Given the description of an element on the screen output the (x, y) to click on. 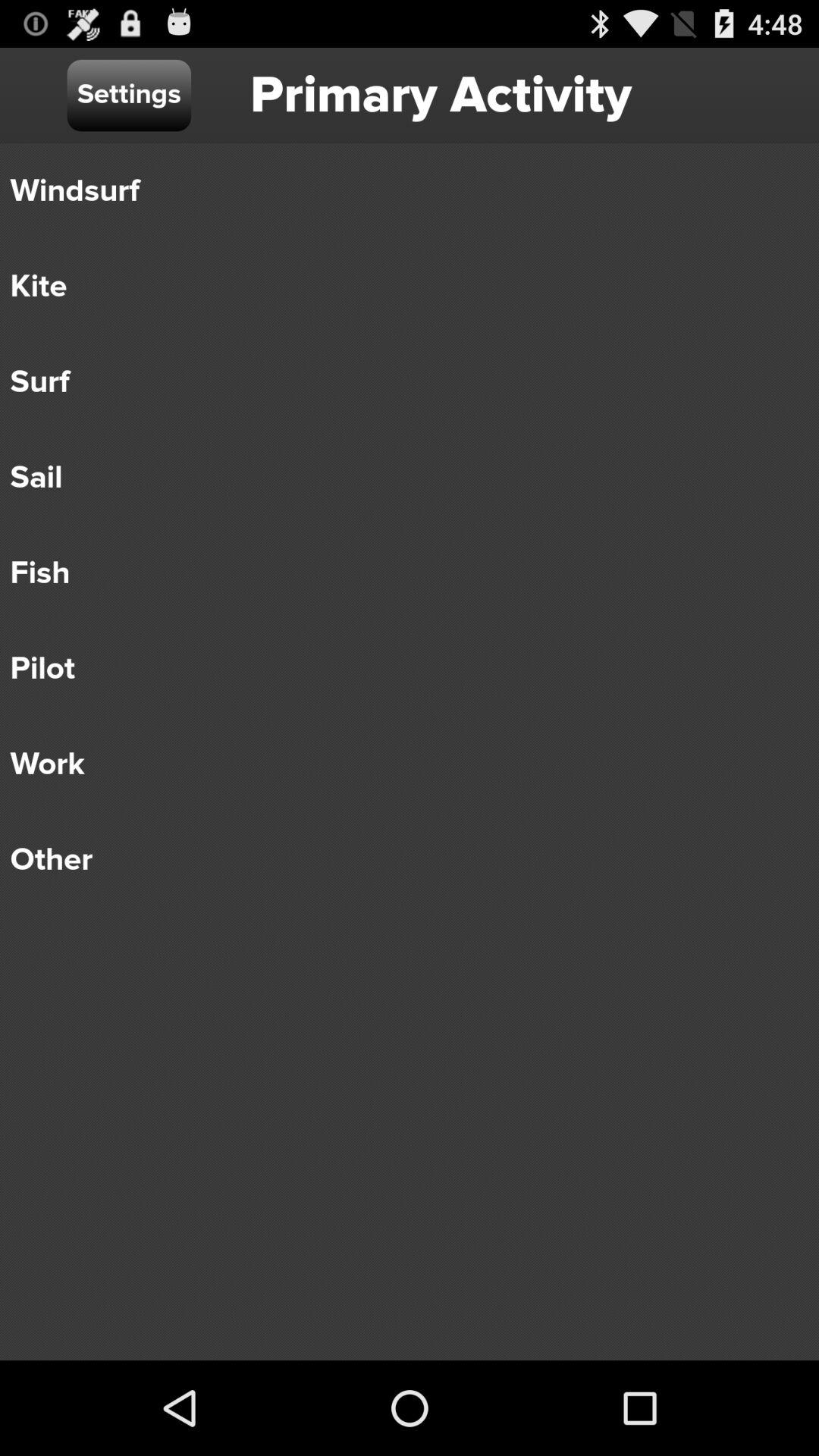
jump to the fish item (399, 572)
